Given the description of an element on the screen output the (x, y) to click on. 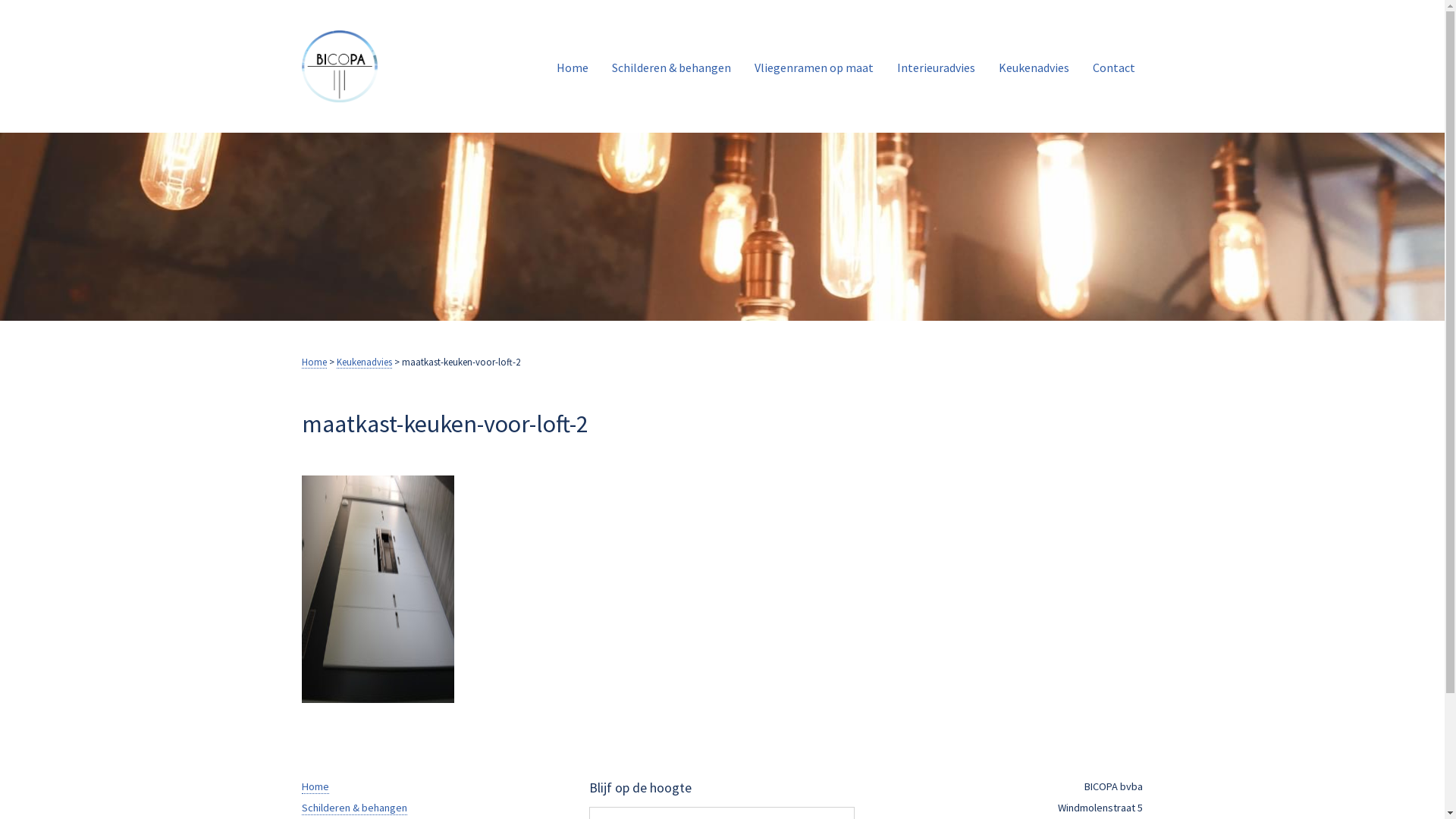
Schilderen & behangen Element type: text (354, 807)
To the homepage Element type: hover (362, 66)
Keukenadvies Element type: text (364, 361)
Home Element type: text (313, 361)
Keukenadvies Element type: text (1033, 67)
Schilderen & behangen Element type: text (671, 67)
Contact Element type: text (1113, 67)
Vliegenramen op maat Element type: text (813, 67)
Home Element type: text (572, 67)
Home Element type: text (315, 786)
Interieuradvies Element type: text (935, 67)
